Given the description of an element on the screen output the (x, y) to click on. 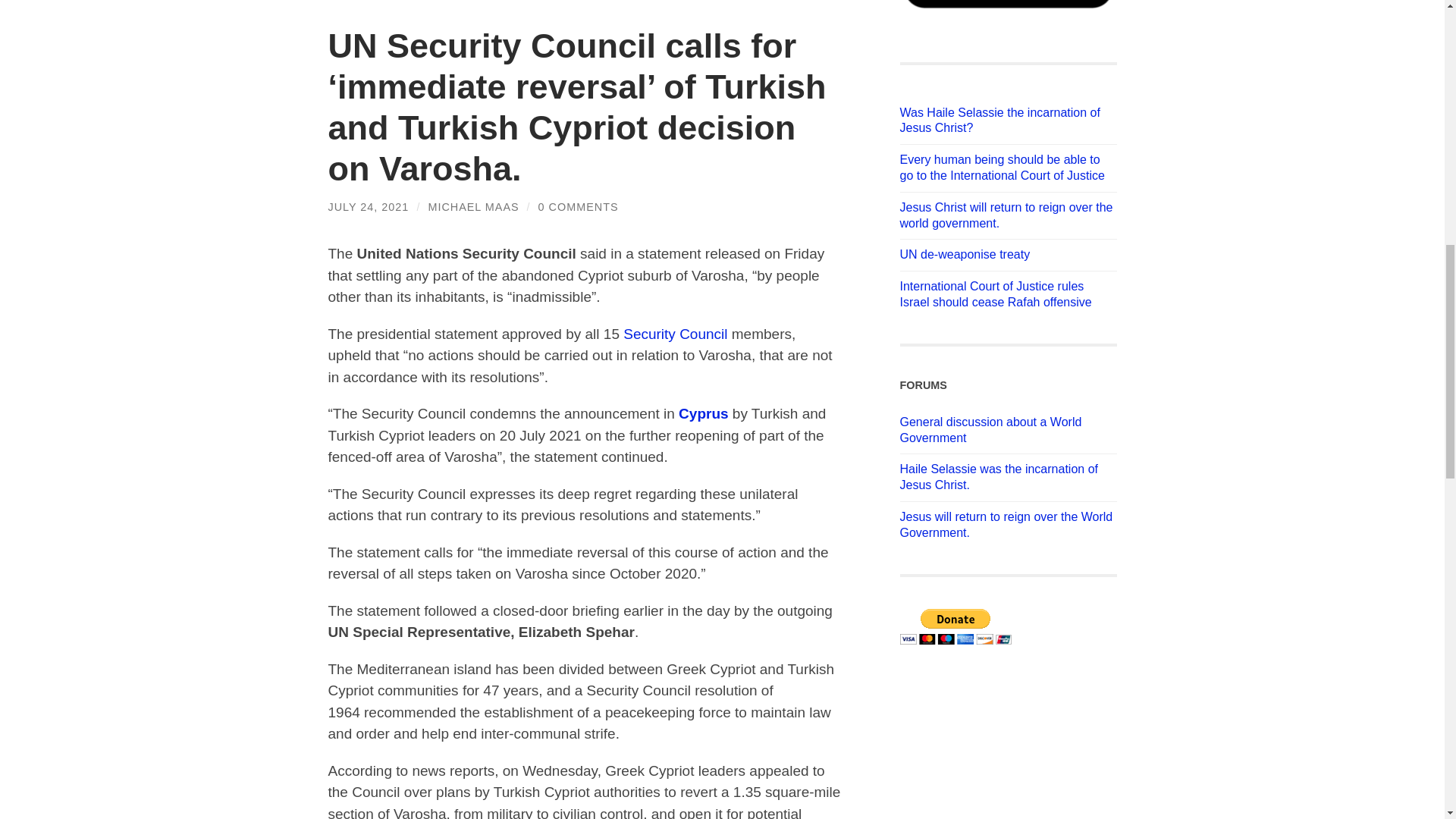
JULY 24, 2021 (368, 206)
MICHAEL MAAS (473, 206)
Cyprus (703, 413)
Security Council (674, 333)
0 COMMENTS (578, 206)
Posts by Michael Maas (473, 206)
